Given the description of an element on the screen output the (x, y) to click on. 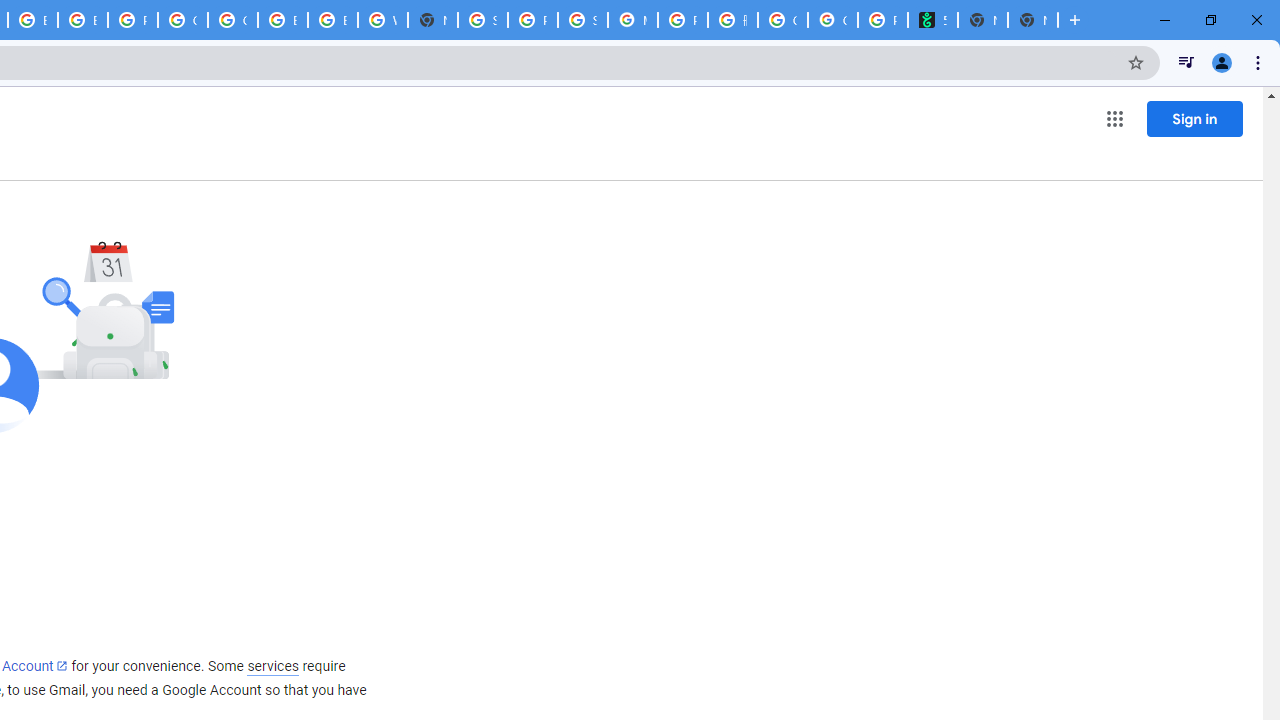
New Tab (1032, 20)
services (273, 666)
Google Cloud Platform (232, 20)
Browse Chrome as a guest - Computer - Google Chrome Help (333, 20)
